Given the description of an element on the screen output the (x, y) to click on. 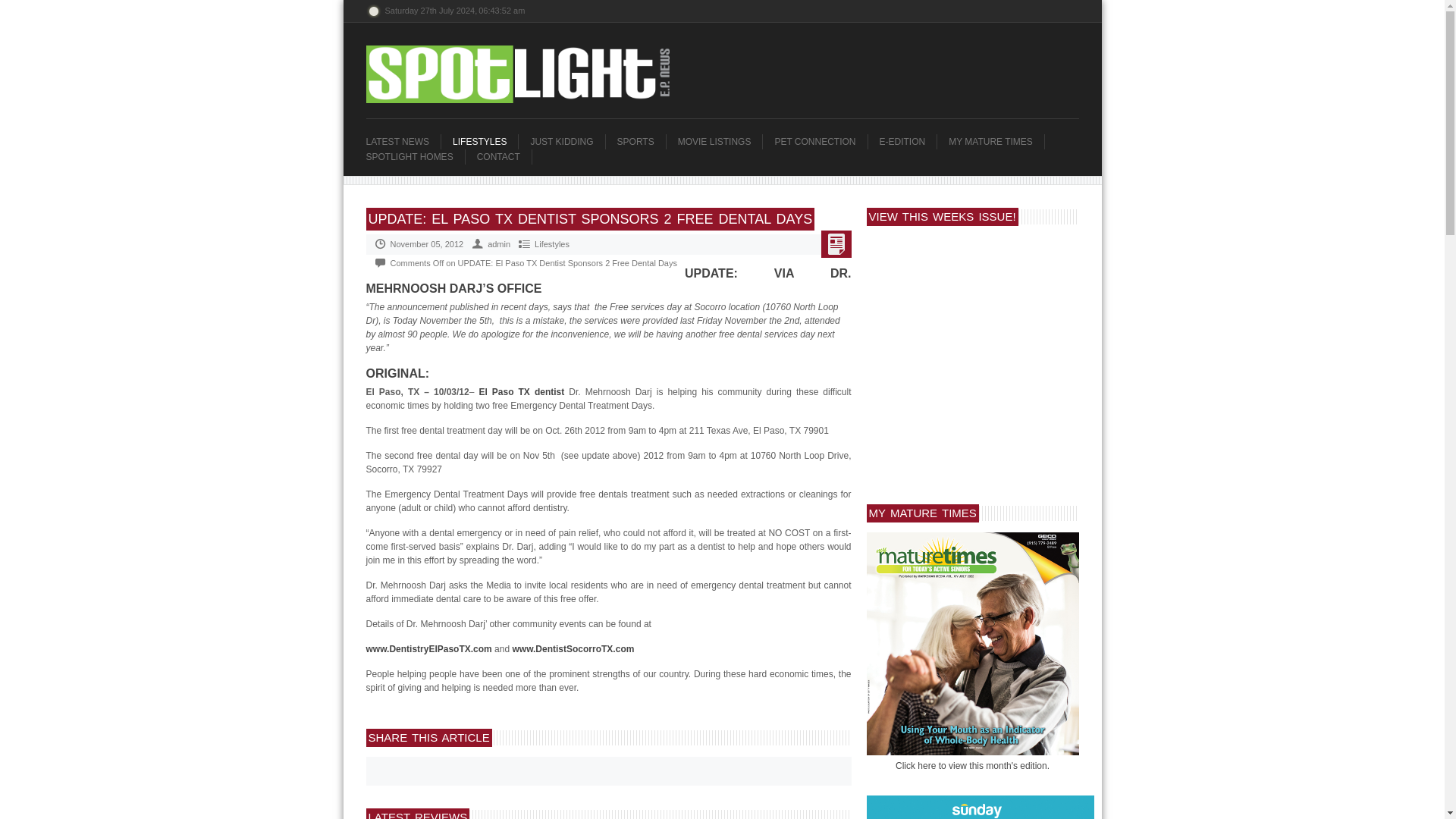
E-EDITION (908, 141)
PET CONNECTION (820, 141)
MOVIE LISTINGS (720, 141)
www.DentistSocorroTX.com (572, 648)
LATEST NEWS (403, 141)
Click here to view this month's edition. (972, 765)
El Paso TX dentist (521, 391)
LIFESTYLES (485, 141)
CONTACT (504, 156)
www.DentistryElPasoTX.com (428, 648)
SPOTLIGHT HOMES (414, 156)
JUST KIDDING (566, 141)
MY MATURE TIMES (996, 141)
